Given the description of an element on the screen output the (x, y) to click on. 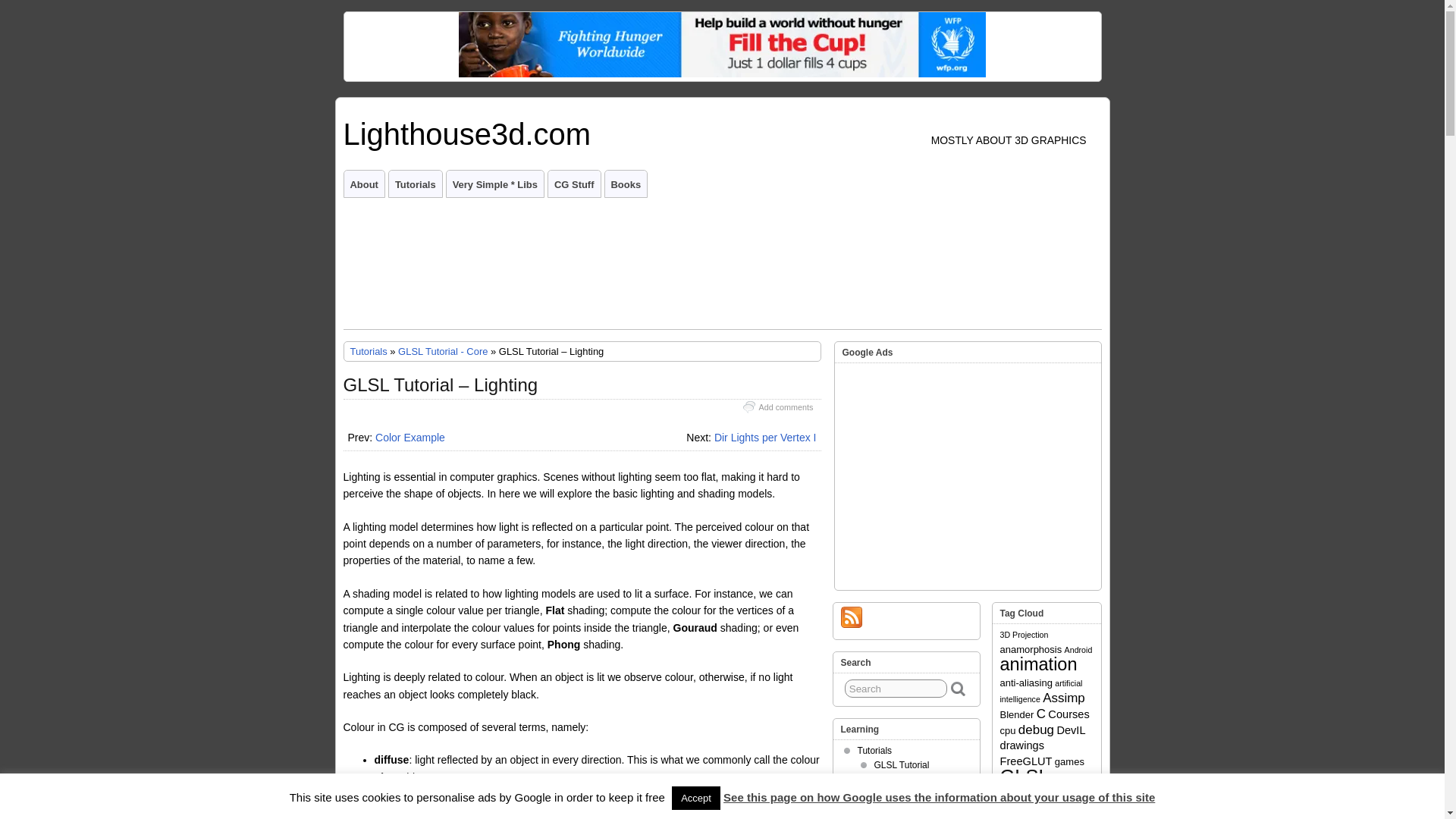
Tutorials (415, 183)
Add comments (785, 406)
Color Example (410, 437)
Books (626, 183)
Search (895, 688)
Color Example (410, 437)
Search (895, 688)
Lighthouse3d.com (466, 133)
Tutorials (368, 351)
Dir Lights per Vertex I (765, 437)
CG Stuff (573, 183)
Dir Lights per Vertex I (765, 437)
Help end child hunger (721, 73)
About (363, 183)
GLSL Tutorial - Core (442, 351)
